Given the description of an element on the screen output the (x, y) to click on. 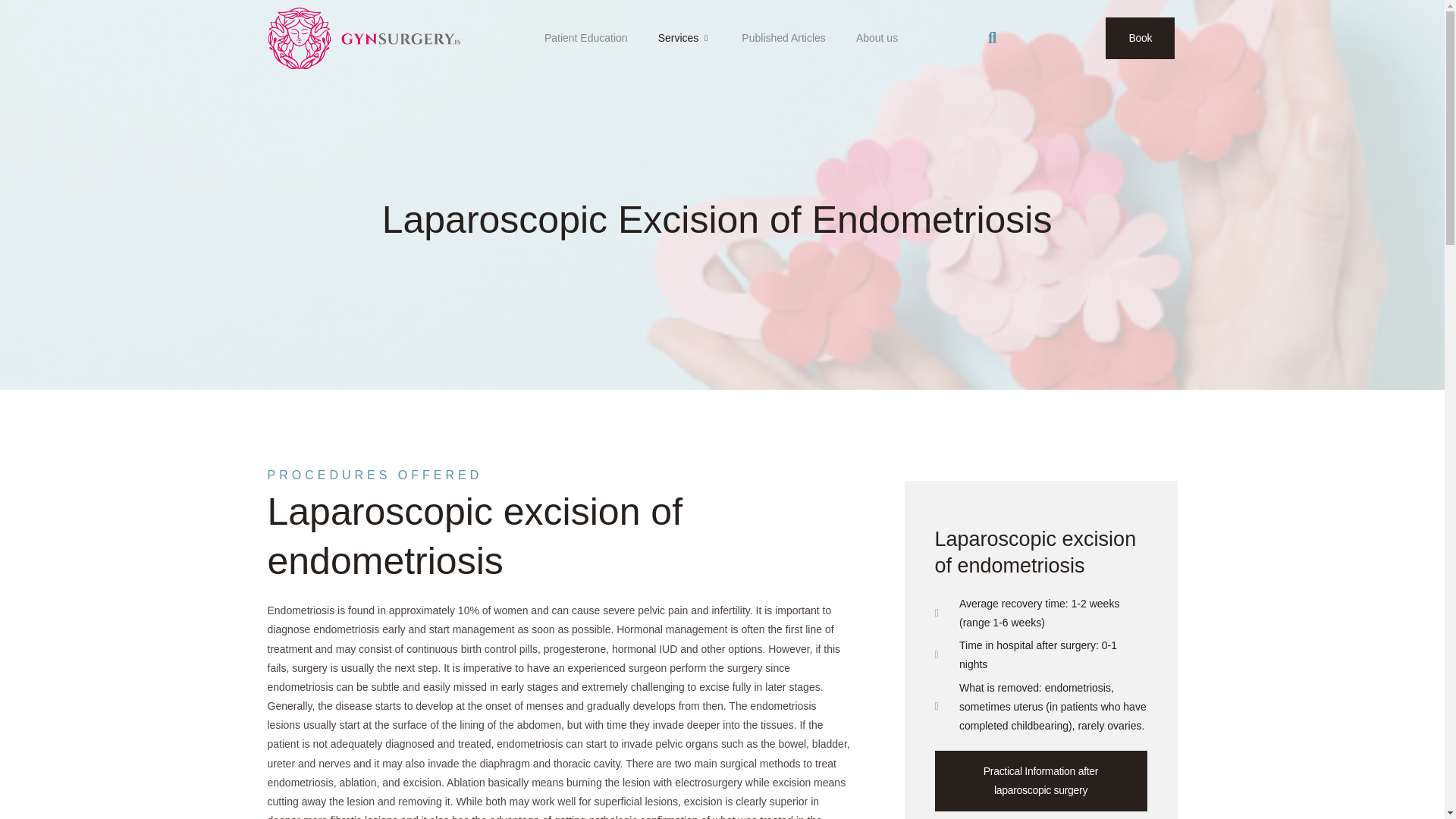
Patient Education (586, 37)
Services (684, 37)
Book (1139, 37)
Published Articles (783, 37)
Practical Information after laparoscopic surgery (1040, 781)
About us (876, 37)
